Given the description of an element on the screen output the (x, y) to click on. 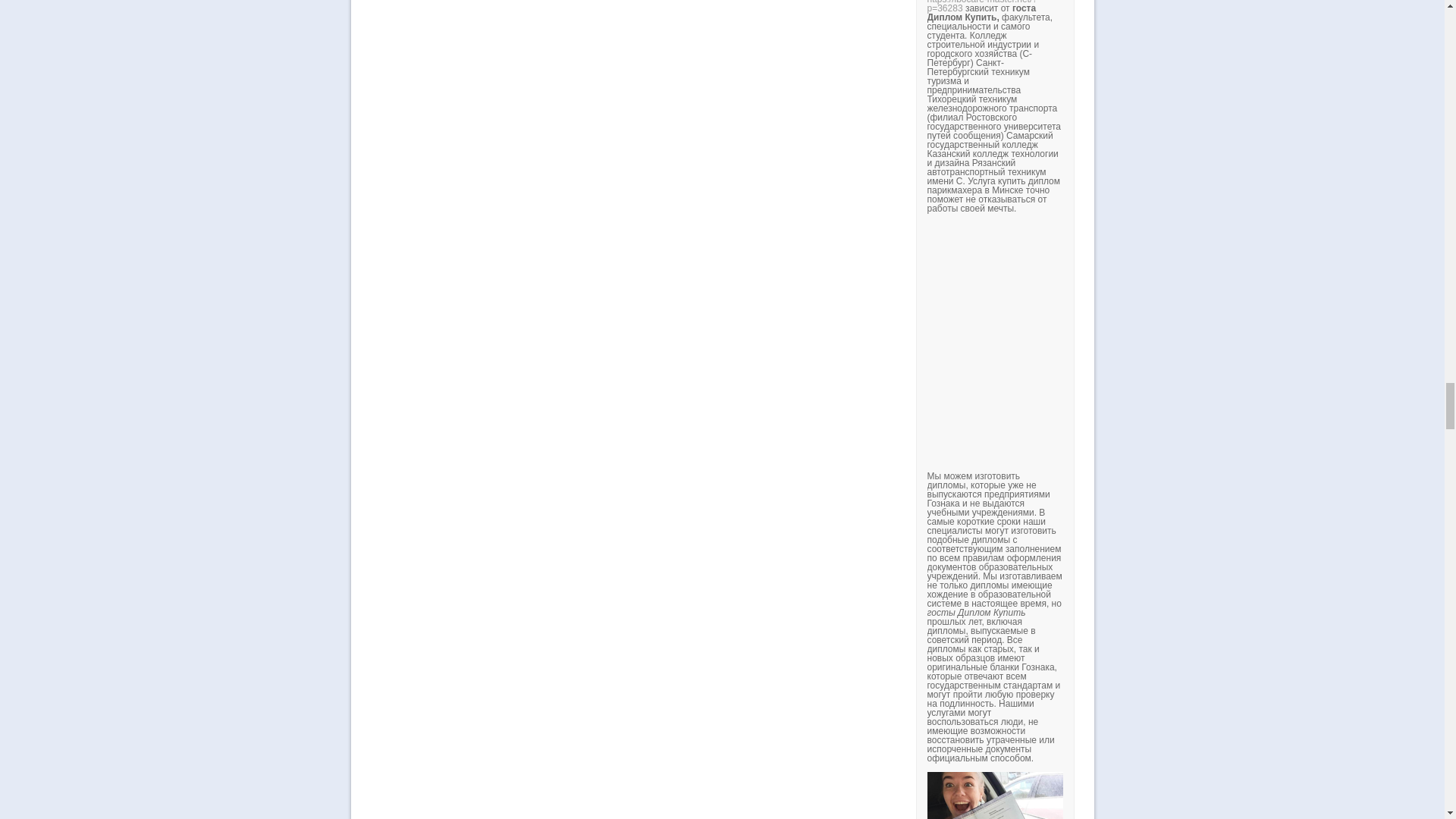
YouTube video player (1138, 341)
